Given the description of an element on the screen output the (x, y) to click on. 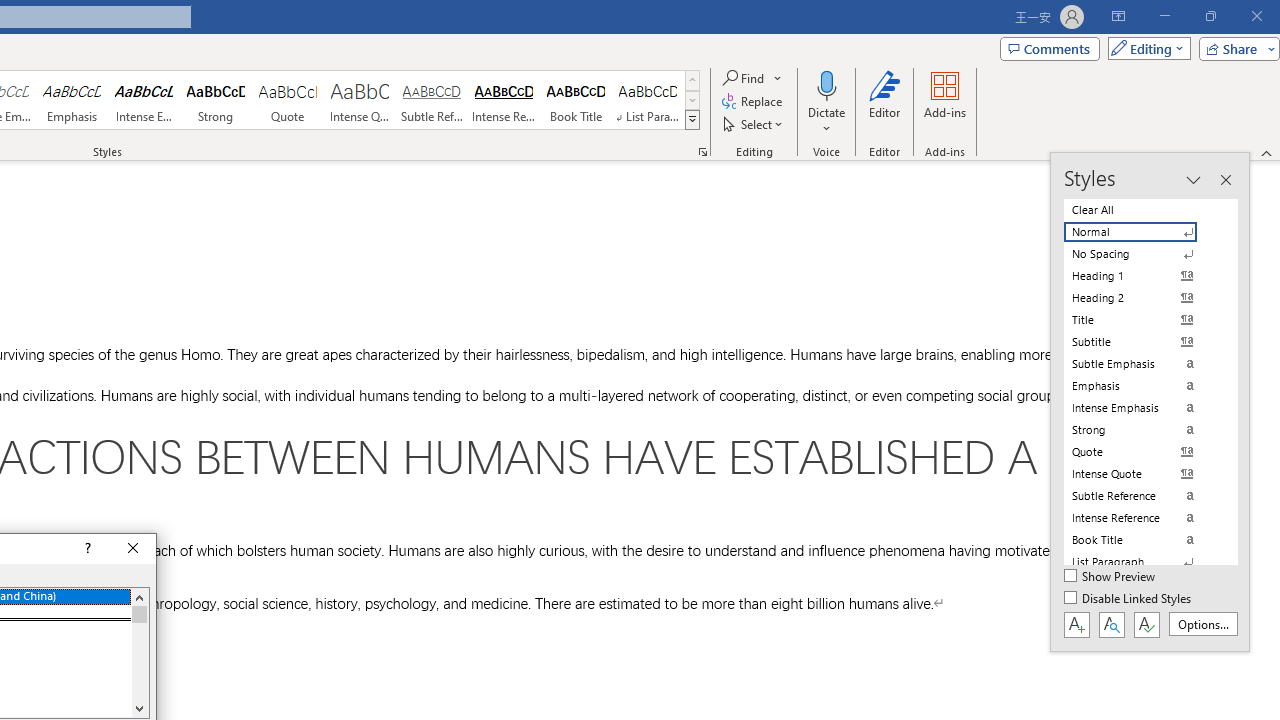
Class: NetUIButton (1146, 624)
Emphasis (71, 100)
